Given the description of an element on the screen output the (x, y) to click on. 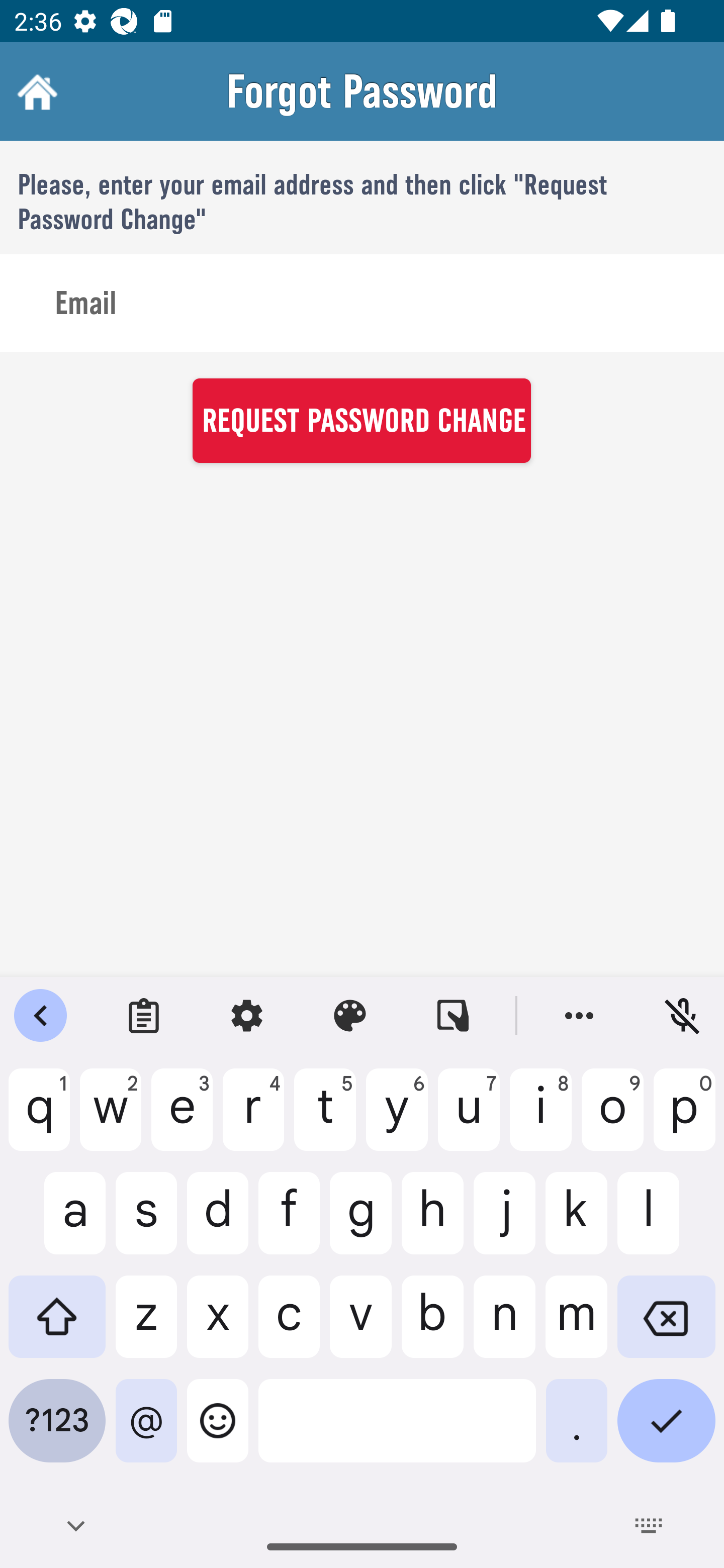
Home (35, 91)
Email (361, 303)
REQUEST PASSWORD CHANGE (361, 419)
